Given the description of an element on the screen output the (x, y) to click on. 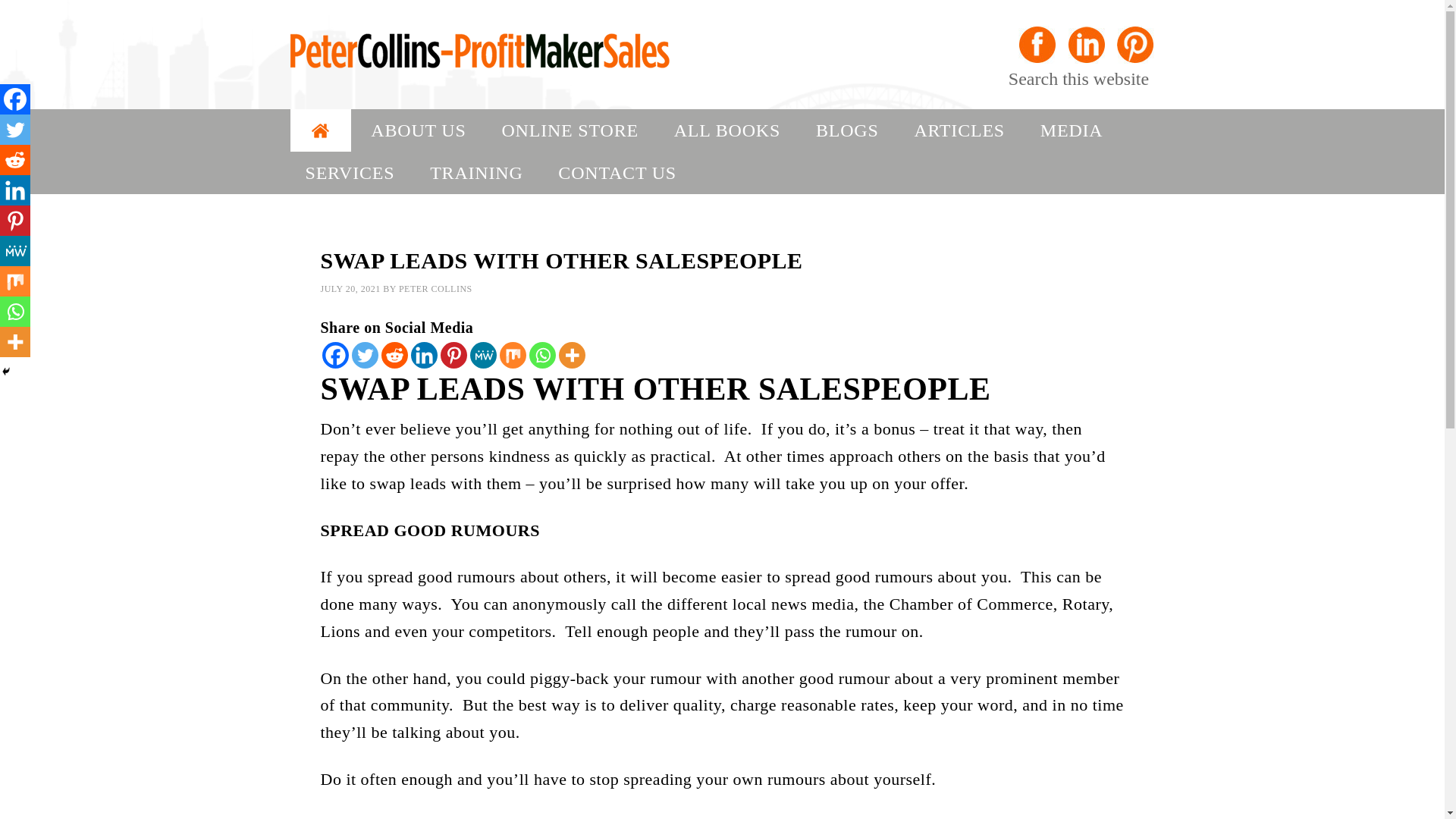
MeWe (483, 355)
More (571, 355)
MEDIA (1071, 129)
ONLINE STORE (569, 129)
Facebook (15, 99)
SERVICES (349, 172)
Whatsapp (542, 355)
Reddit (15, 159)
Twitter (365, 355)
ALL BOOKS (726, 129)
TRAINING (475, 172)
PETER COLLINS (434, 288)
MeWe (15, 250)
Pinterest (452, 355)
CONTACT US (617, 172)
